Given the description of an element on the screen output the (x, y) to click on. 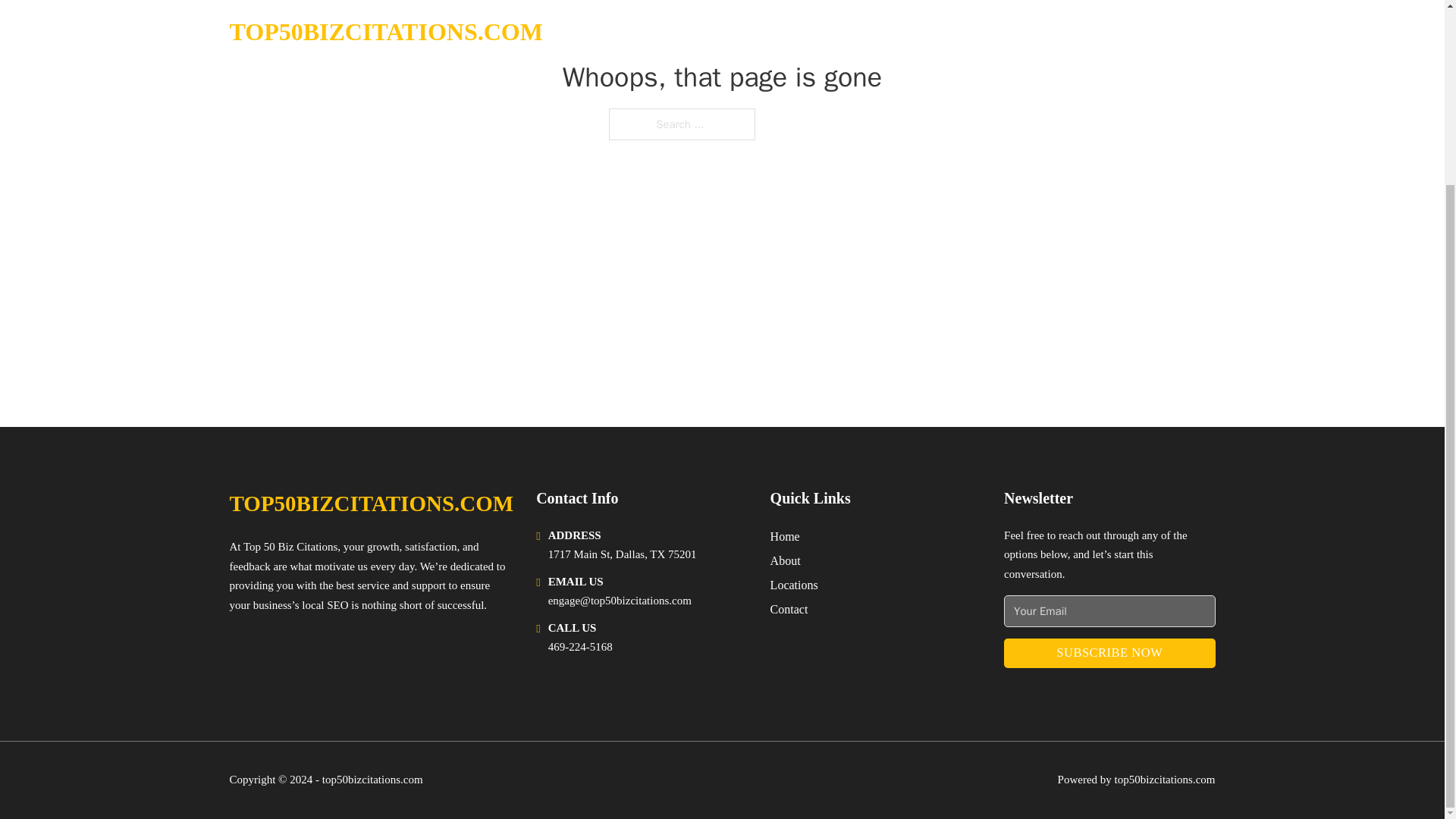
SUBSCRIBE NOW (1109, 653)
Locations (794, 584)
Contact (789, 608)
TOP50BIZCITATIONS.COM (370, 503)
Home (784, 536)
About (785, 560)
469-224-5168 (580, 646)
